Given the description of an element on the screen output the (x, y) to click on. 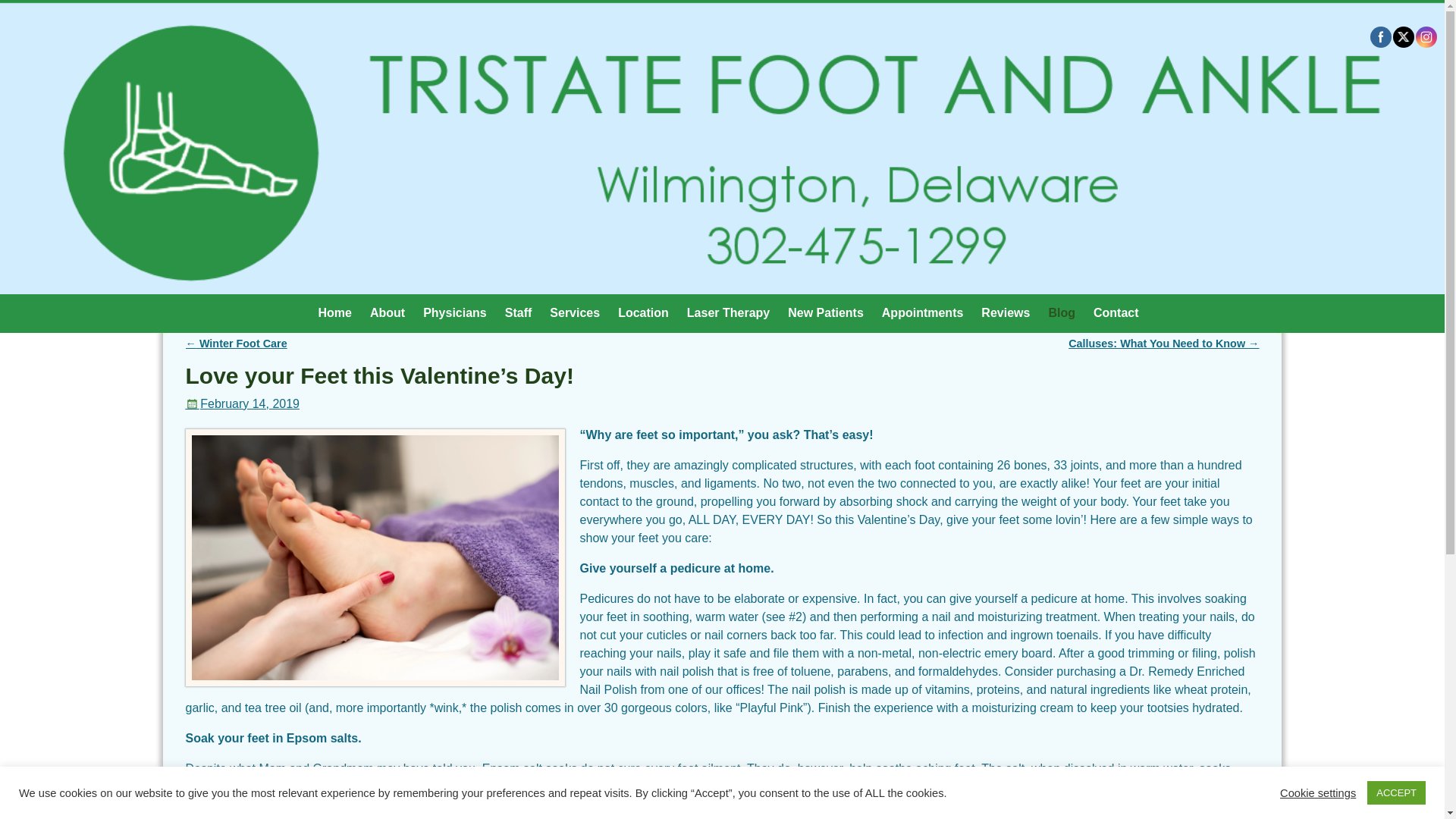
Services (574, 313)
About (387, 313)
Reviews (1005, 313)
Follow Us! (1403, 36)
Follow Us! (1426, 36)
Location (643, 313)
11:20 am (241, 403)
New Patients (825, 313)
Blog (1061, 313)
Contact (1116, 313)
Home (333, 313)
Staff (518, 313)
Physicians (454, 313)
February 14, 2019 (241, 403)
Like Us Today! (1380, 36)
